Given the description of an element on the screen output the (x, y) to click on. 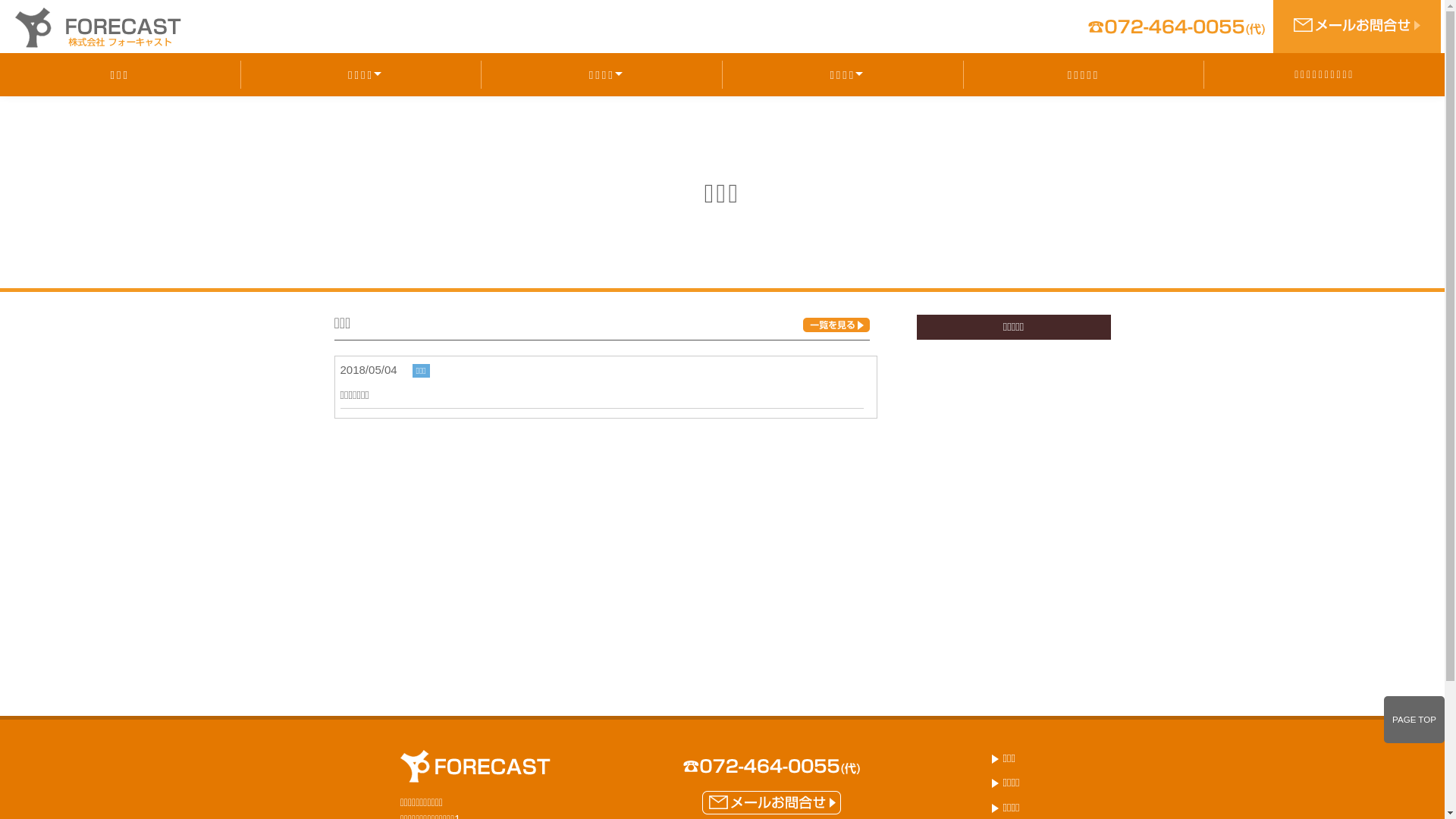
PAGE TOP Element type: text (1413, 719)
